Given the description of an element on the screen output the (x, y) to click on. 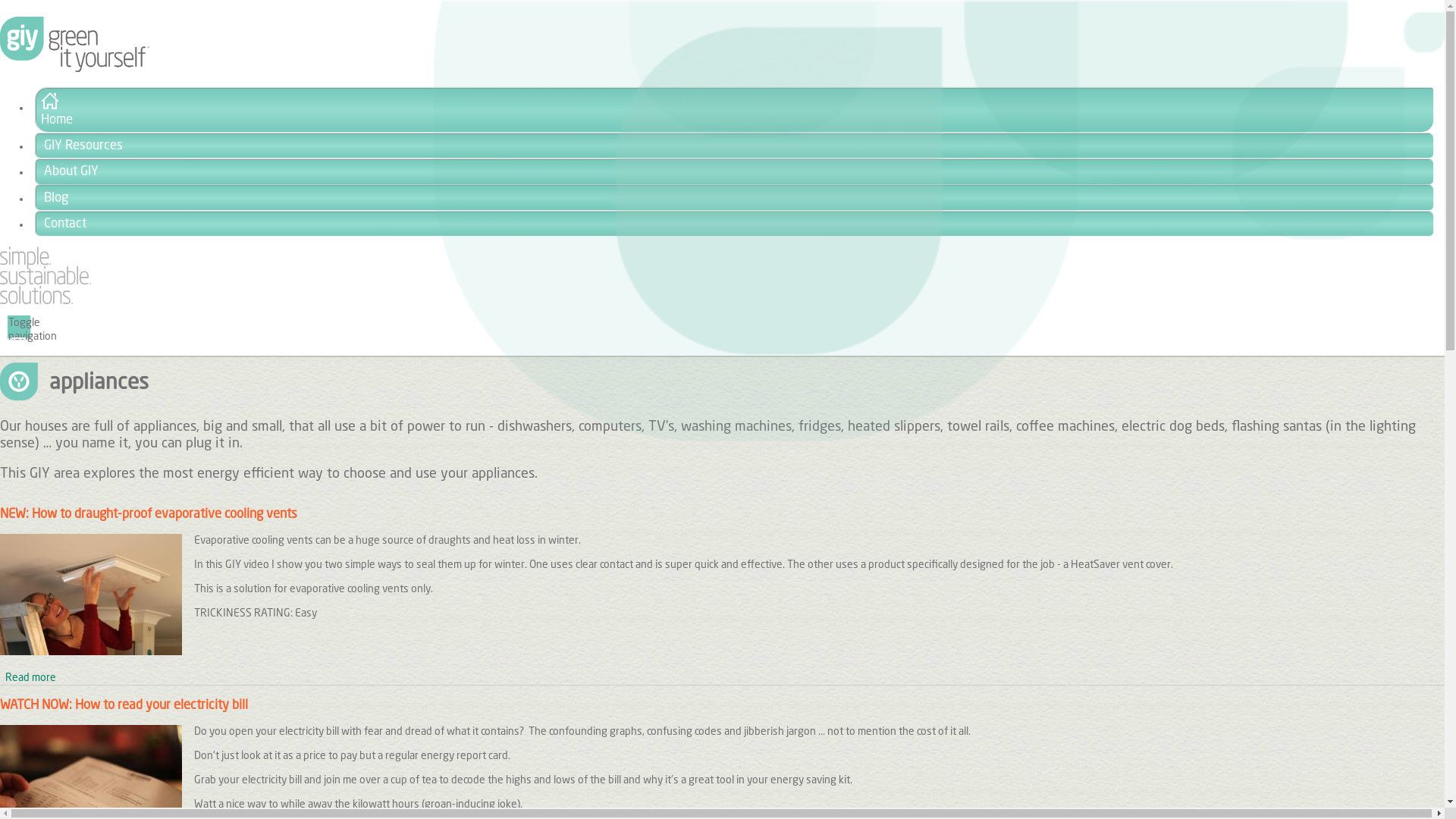
Blog Element type: text (734, 197)
Contact Element type: text (734, 224)
NEW: How to draught-proof evaporative cooling vents Element type: text (148, 514)
GIY Resources Element type: text (734, 146)
Haatsaver Element type: hover (91, 594)
Home Element type: hover (45, 300)
Skip to main content Element type: text (0, 0)
Home Element type: text (734, 109)
appliances Element type: hover (19, 381)
Toggle navigation Element type: text (18, 326)
About GIY Element type: text (734, 172)
WATCH NOW: How to read your electricity bill Element type: text (123, 705)
